Given the description of an element on the screen output the (x, y) to click on. 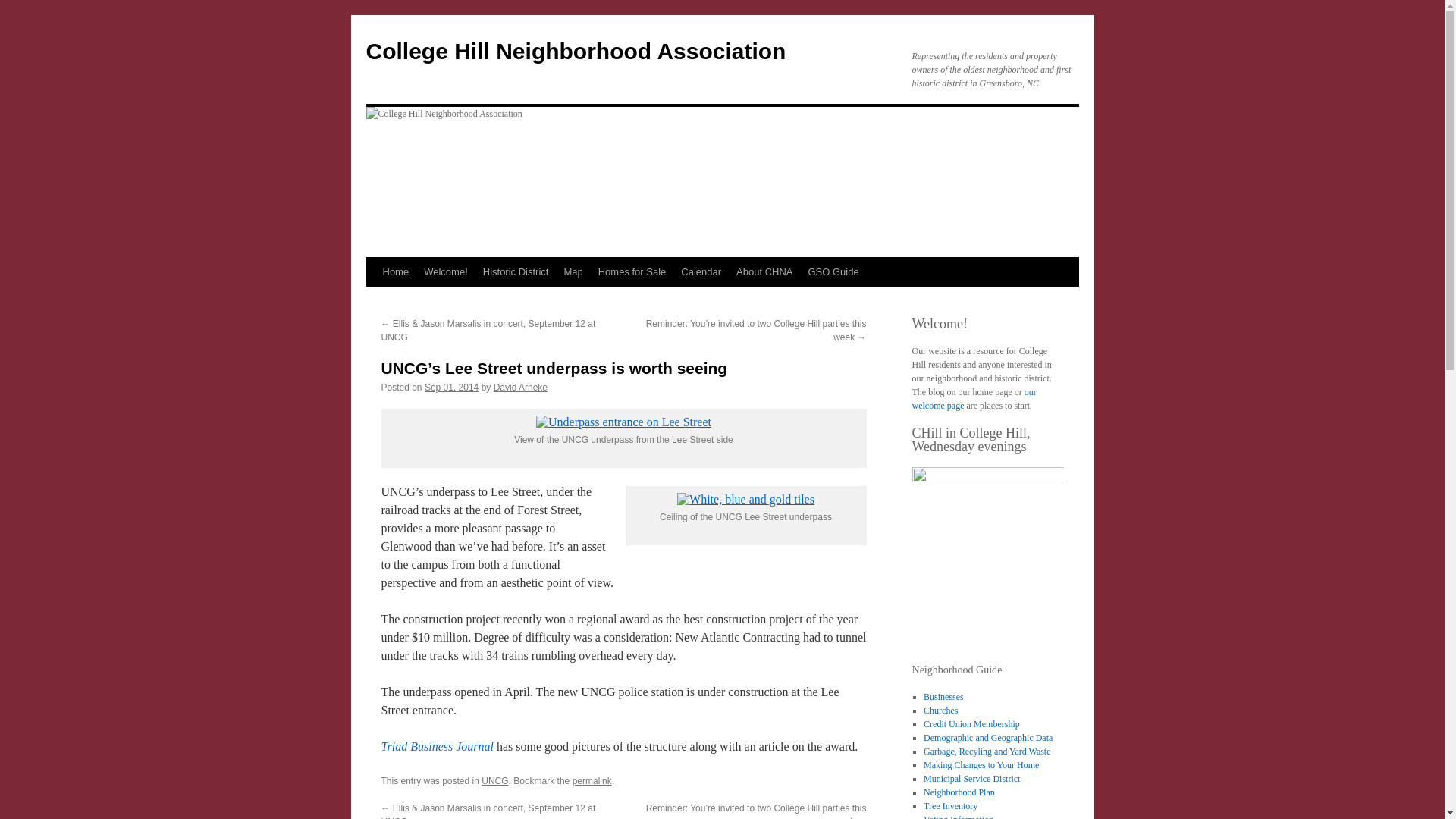
Welcome! (446, 271)
Skip to content (372, 300)
Home (395, 271)
Calendar (700, 271)
Homes for Sale (632, 271)
6:00 am (452, 387)
GSO Guide (833, 271)
College Hill Neighborhood Association (575, 50)
Triad Business Journal (436, 746)
About CHNA (764, 271)
David Arneke (520, 387)
Sep 01, 2014 (452, 387)
TBJ website (436, 746)
Map (572, 271)
Historic District (516, 271)
